Given the description of an element on the screen output the (x, y) to click on. 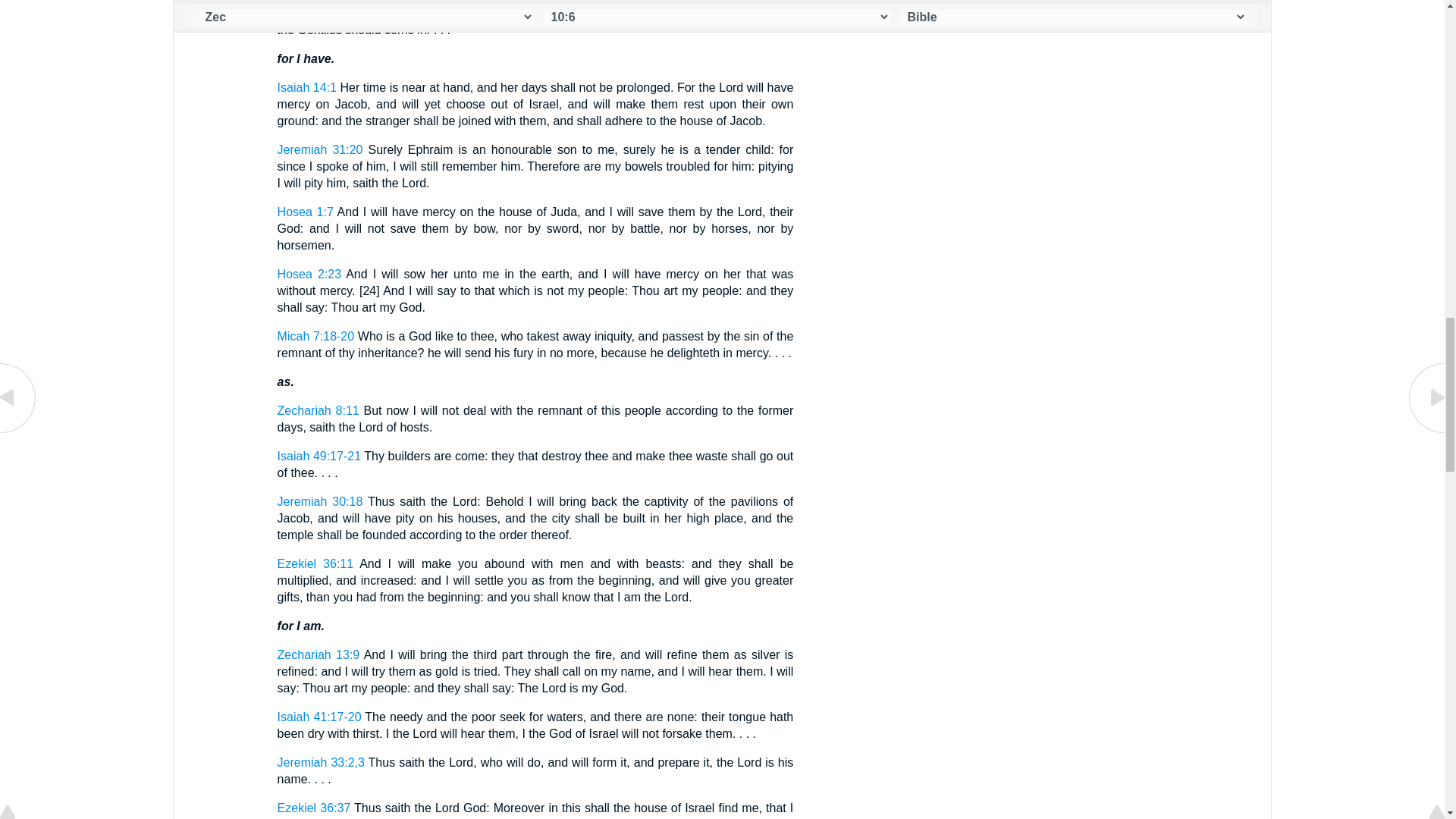
Romans 11:25,26 (326, 1)
Hosea 2:23 (309, 273)
Zechariah 13:9 (318, 654)
Ezekiel 36:37 (314, 807)
Zechariah 8:11 (318, 410)
Hosea 1:7 (305, 211)
Jeremiah 31:20 (320, 149)
Micah 7:18-20 (316, 336)
Jeremiah 30:18 (320, 501)
Isaiah 14:1 (307, 87)
